Given the description of an element on the screen output the (x, y) to click on. 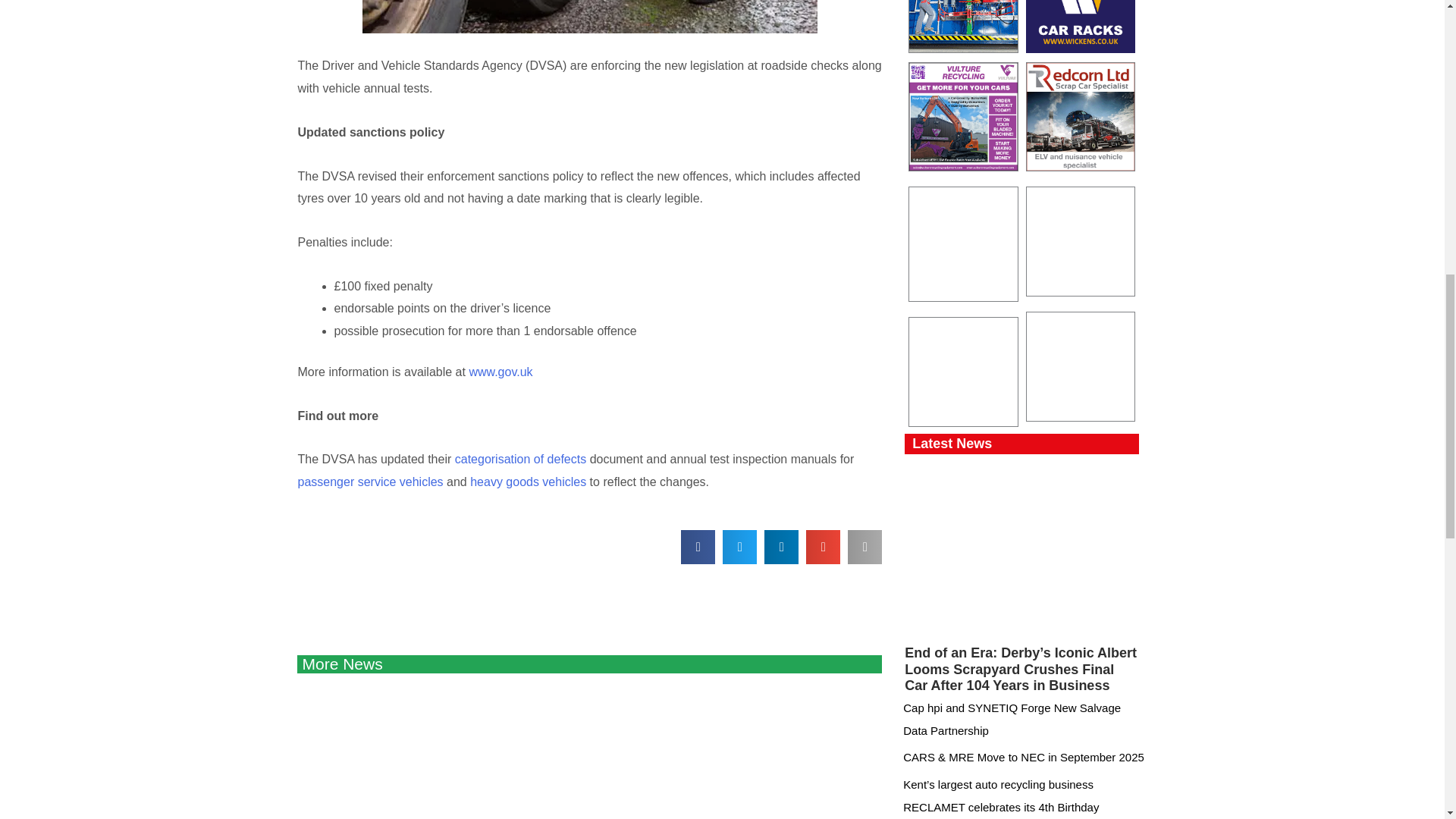
SCRAPPMATE (962, 244)
